Given the description of an element on the screen output the (x, y) to click on. 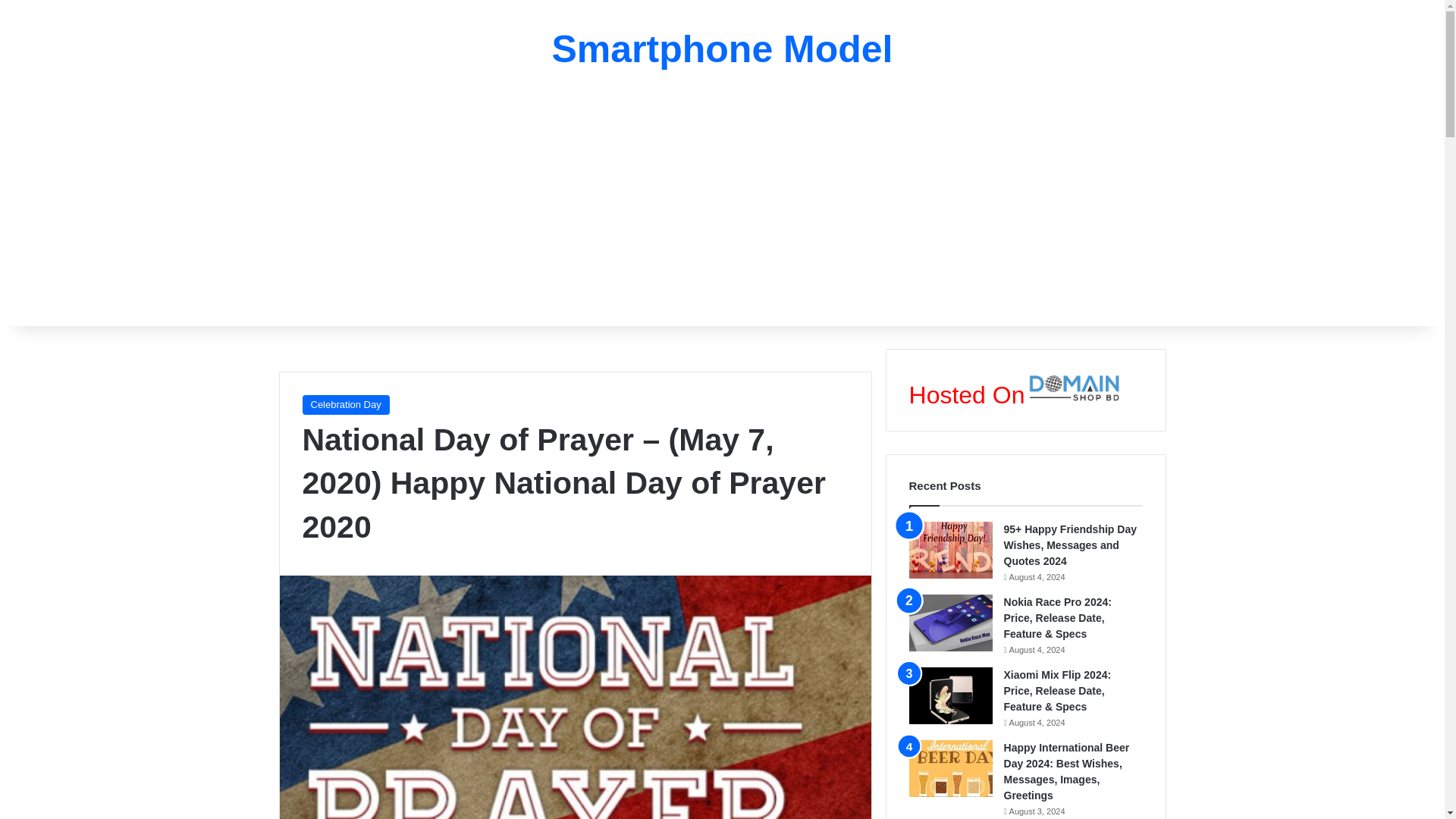
Smartphone Model (721, 48)
Smartphone Model (721, 48)
Celebration Day (344, 404)
